Given the description of an element on the screen output the (x, y) to click on. 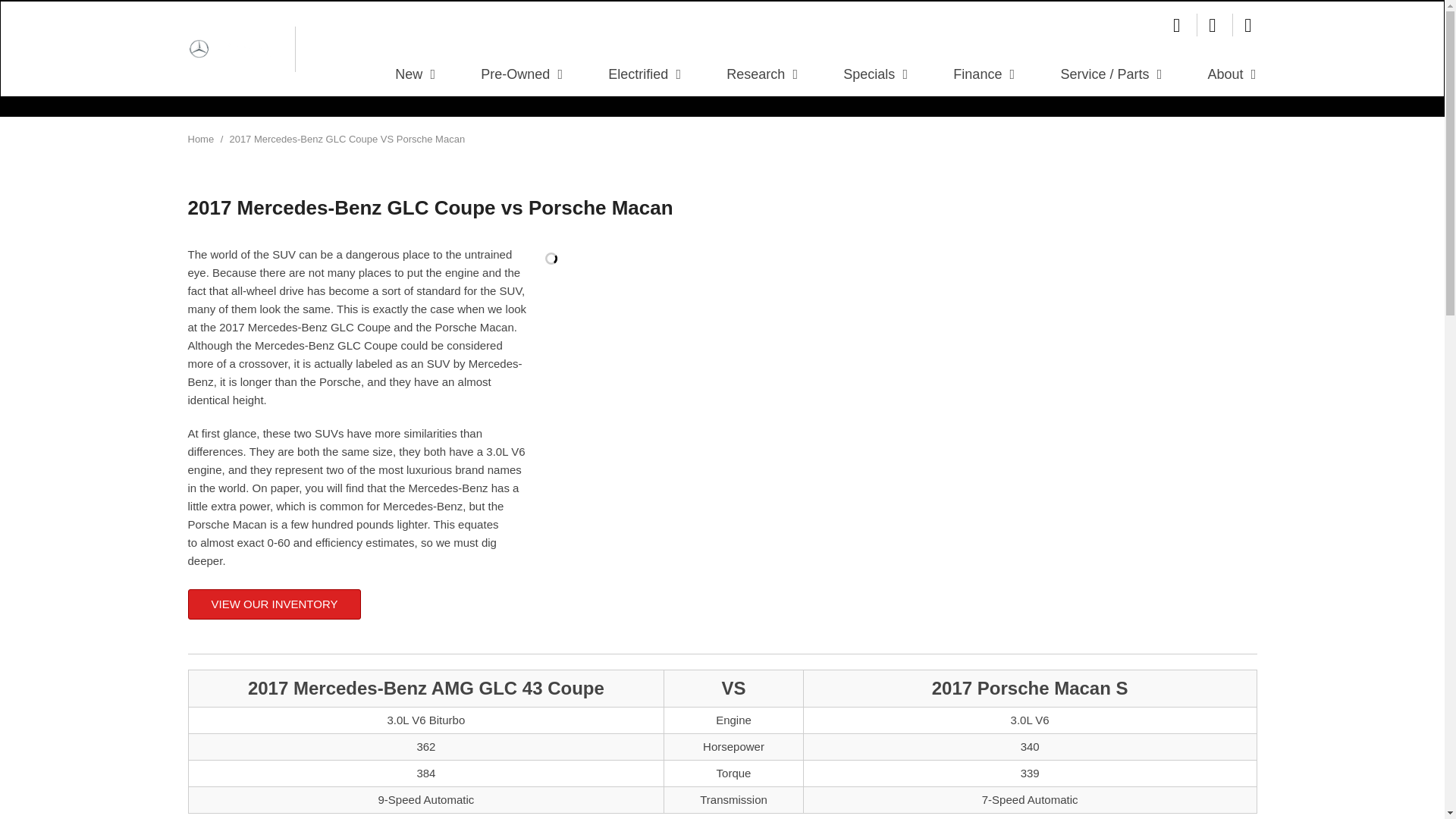
sprinter van logo (334, 49)
Pre-Owned (522, 73)
New (416, 73)
Mercedes-Benz of Arrowhead (235, 48)
